Given the description of an element on the screen output the (x, y) to click on. 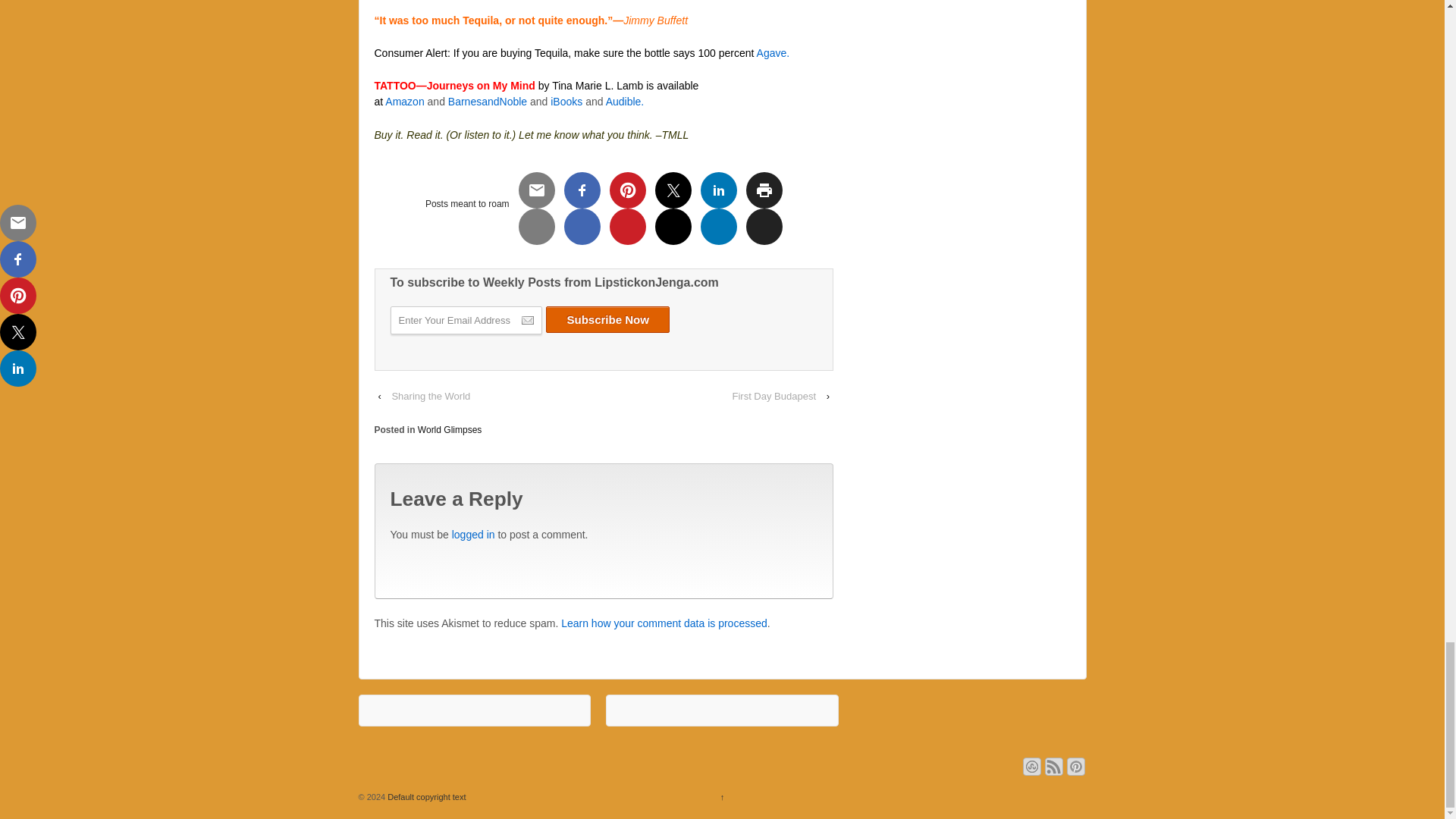
Audible. (625, 101)
Agave. (773, 52)
Subscribe Now (607, 319)
iBooks (566, 101)
Amazon (404, 101)
Lipstick on Jenga (425, 796)
Enter Your Email Address (465, 320)
BarnesandNoble (487, 101)
